Given the description of an element on the screen output the (x, y) to click on. 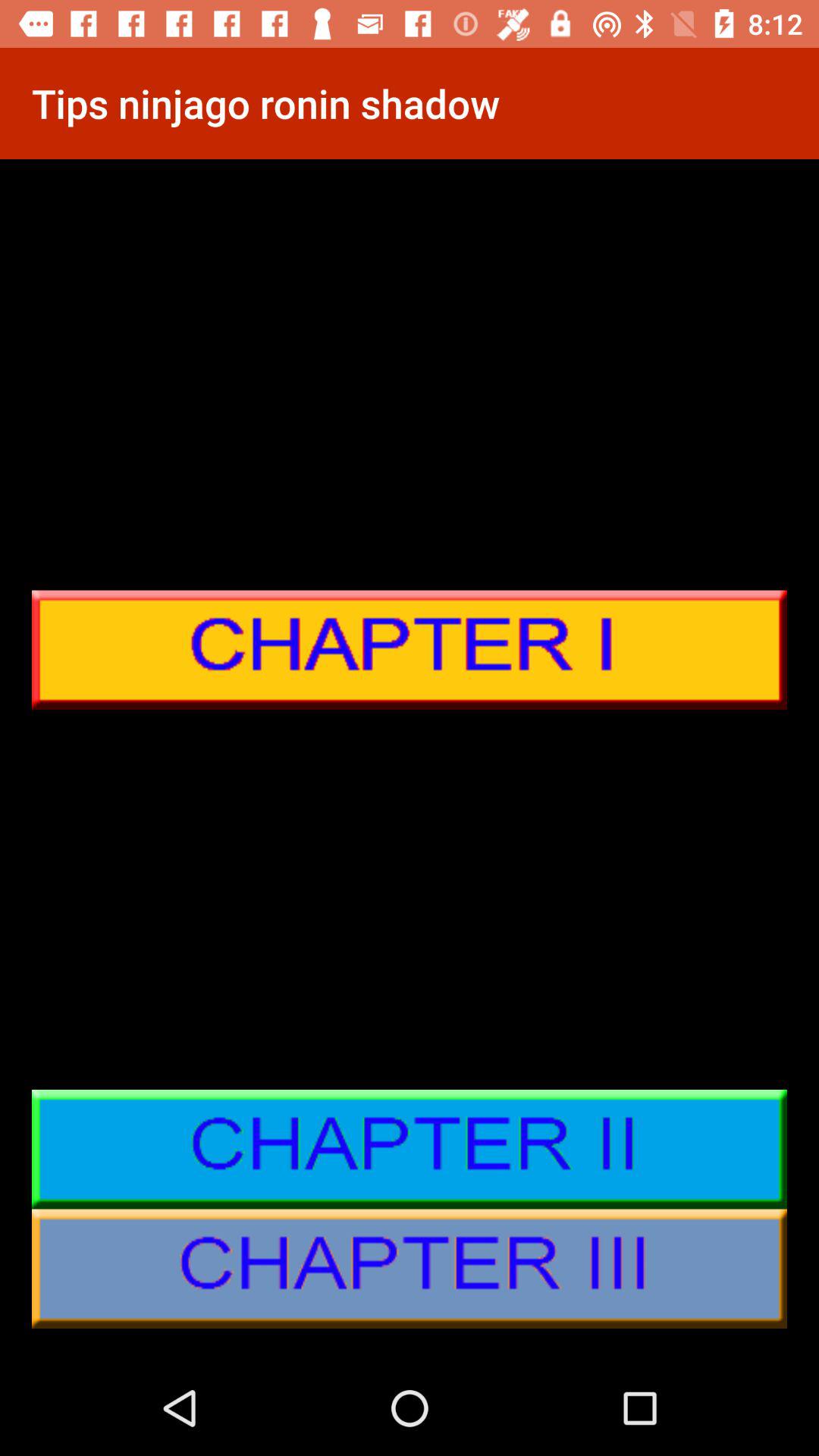
go to chapter ll (409, 1149)
